Given the description of an element on the screen output the (x, y) to click on. 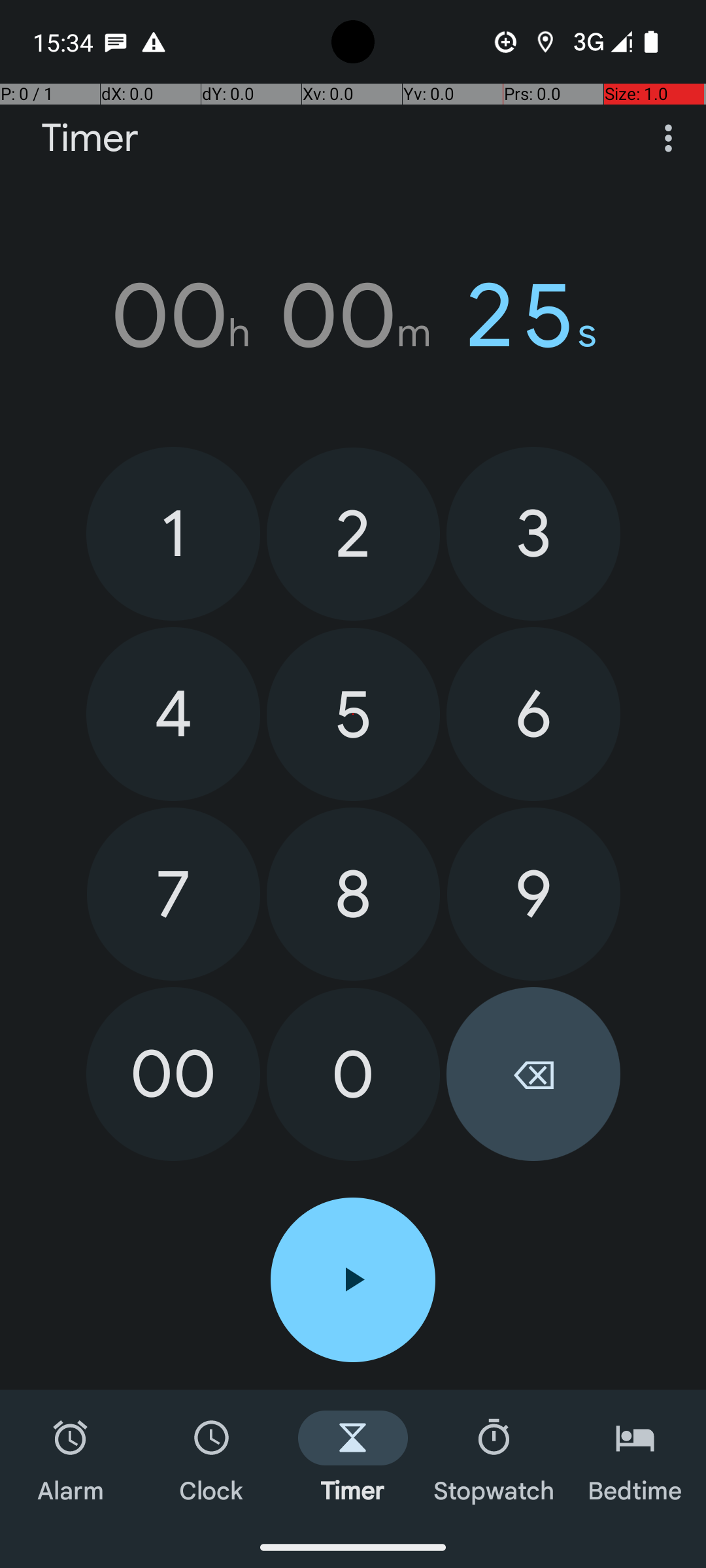
Timer Element type: android.widget.TextView (89, 138)
00h 00m 25s Element type: android.widget.TextView (353, 315)
1 Element type: android.widget.Button (173, 533)
2 Element type: android.widget.Button (352, 533)
3 Element type: android.widget.Button (533, 533)
4 Element type: android.widget.Button (173, 713)
5 Element type: android.widget.Button (352, 713)
6 Element type: android.widget.Button (533, 713)
7 Element type: android.widget.Button (173, 893)
8 Element type: android.widget.Button (352, 893)
9 Element type: android.widget.Button (533, 893)
00 Element type: android.widget.Button (173, 1073)
0 Element type: android.widget.Button (352, 1073)
⌫ Element type: android.widget.Button (533, 1073)
Start Element type: android.widget.Button (352, 1279)
Alarm Element type: android.widget.FrameLayout (70, 1457)
Clock Element type: android.widget.FrameLayout (211, 1457)
Stopwatch Element type: android.widget.FrameLayout (493, 1457)
Bedtime Element type: android.widget.FrameLayout (635, 1457)
Data Saver is on Element type: android.widget.ImageView (505, 41)
